Given the description of an element on the screen output the (x, y) to click on. 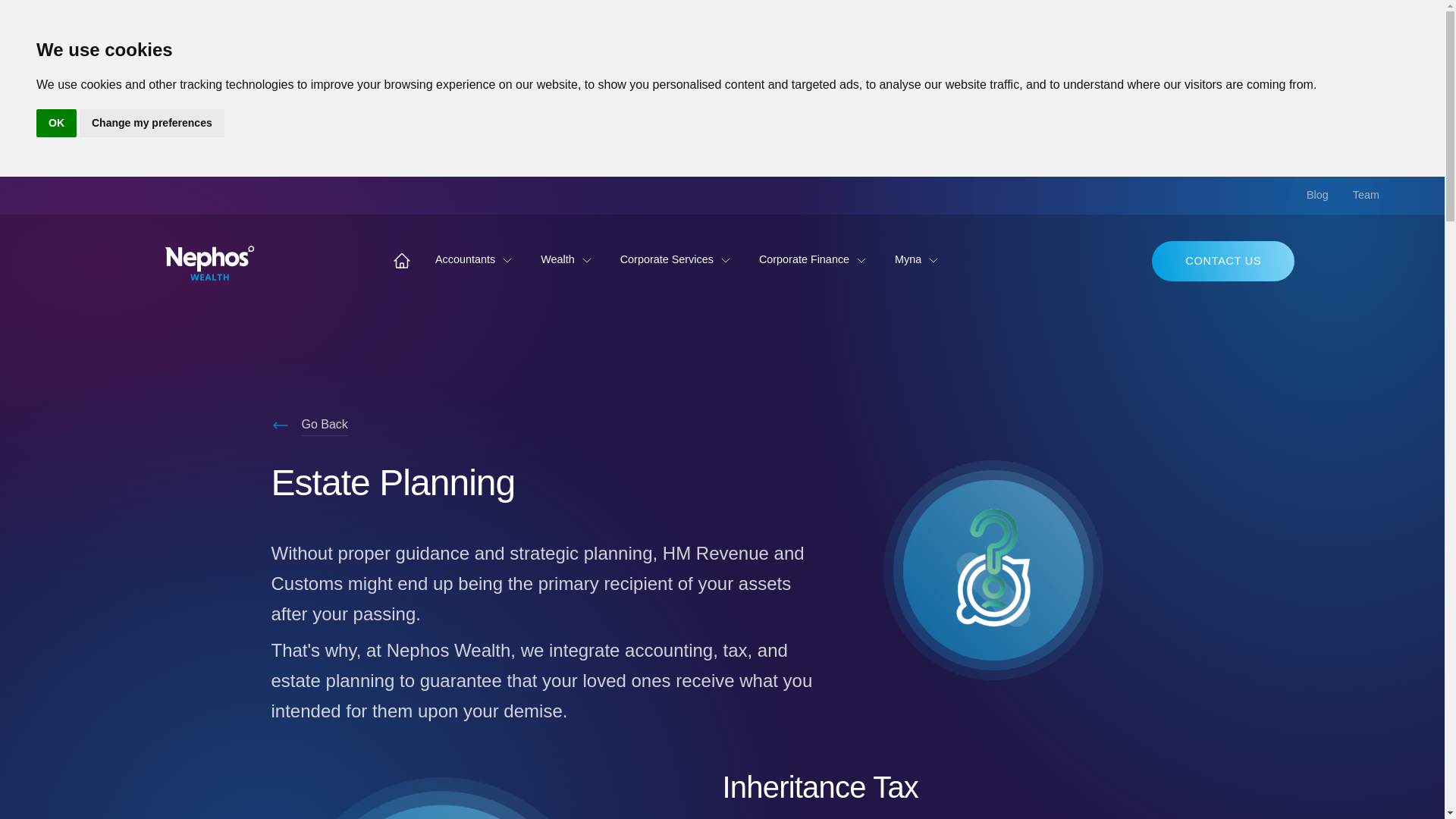
Change my preferences (152, 122)
Corporate Services (677, 259)
Wealth (567, 259)
Corporate Finance (814, 259)
OK (56, 122)
Accountants (475, 259)
